Given the description of an element on the screen output the (x, y) to click on. 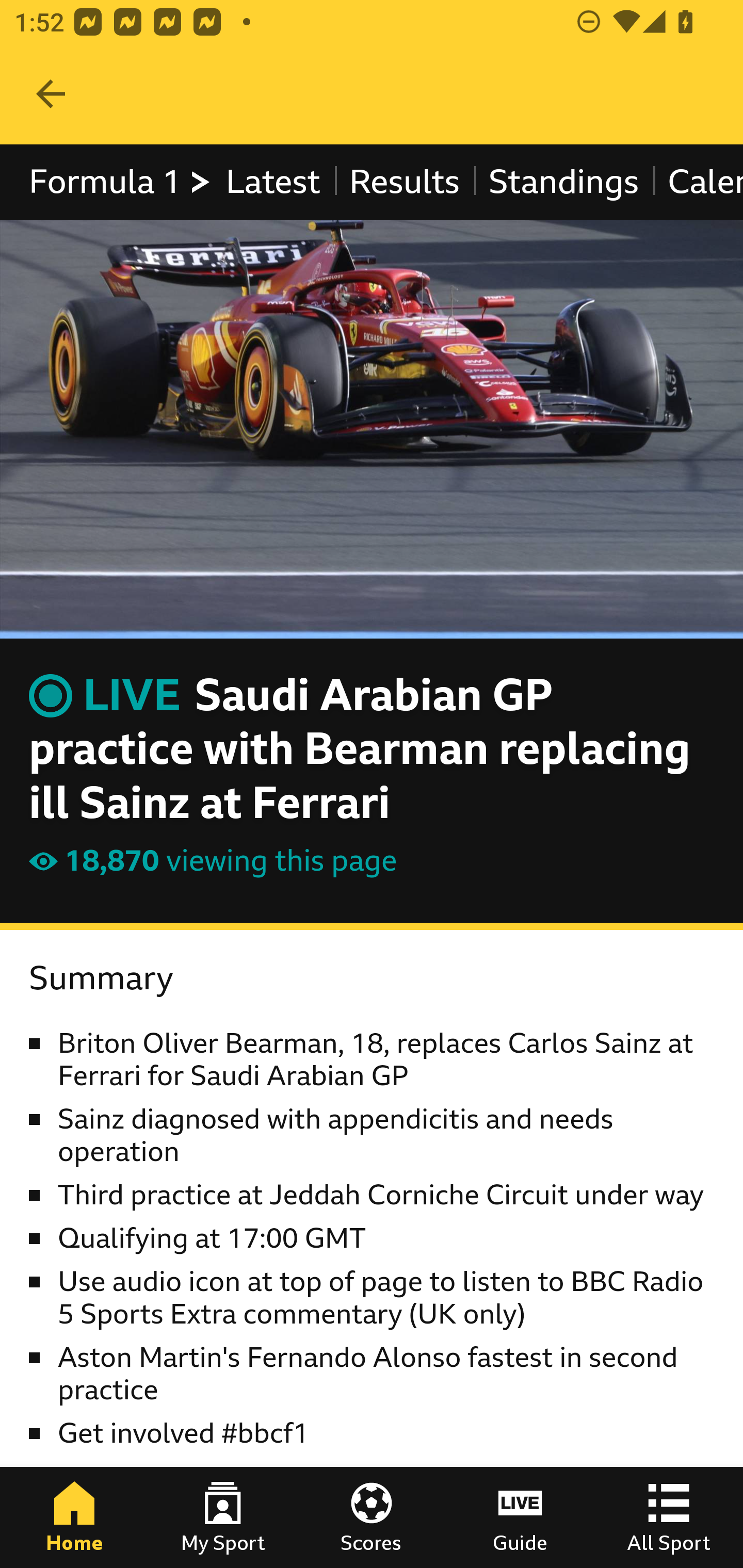
Navigate up (50, 93)
Formula 1  (120, 181)
Latest (272, 181)
Results (403, 181)
Standings (564, 181)
My Sport (222, 1517)
Scores (371, 1517)
Guide (519, 1517)
All Sport (668, 1517)
